Given the description of an element on the screen output the (x, y) to click on. 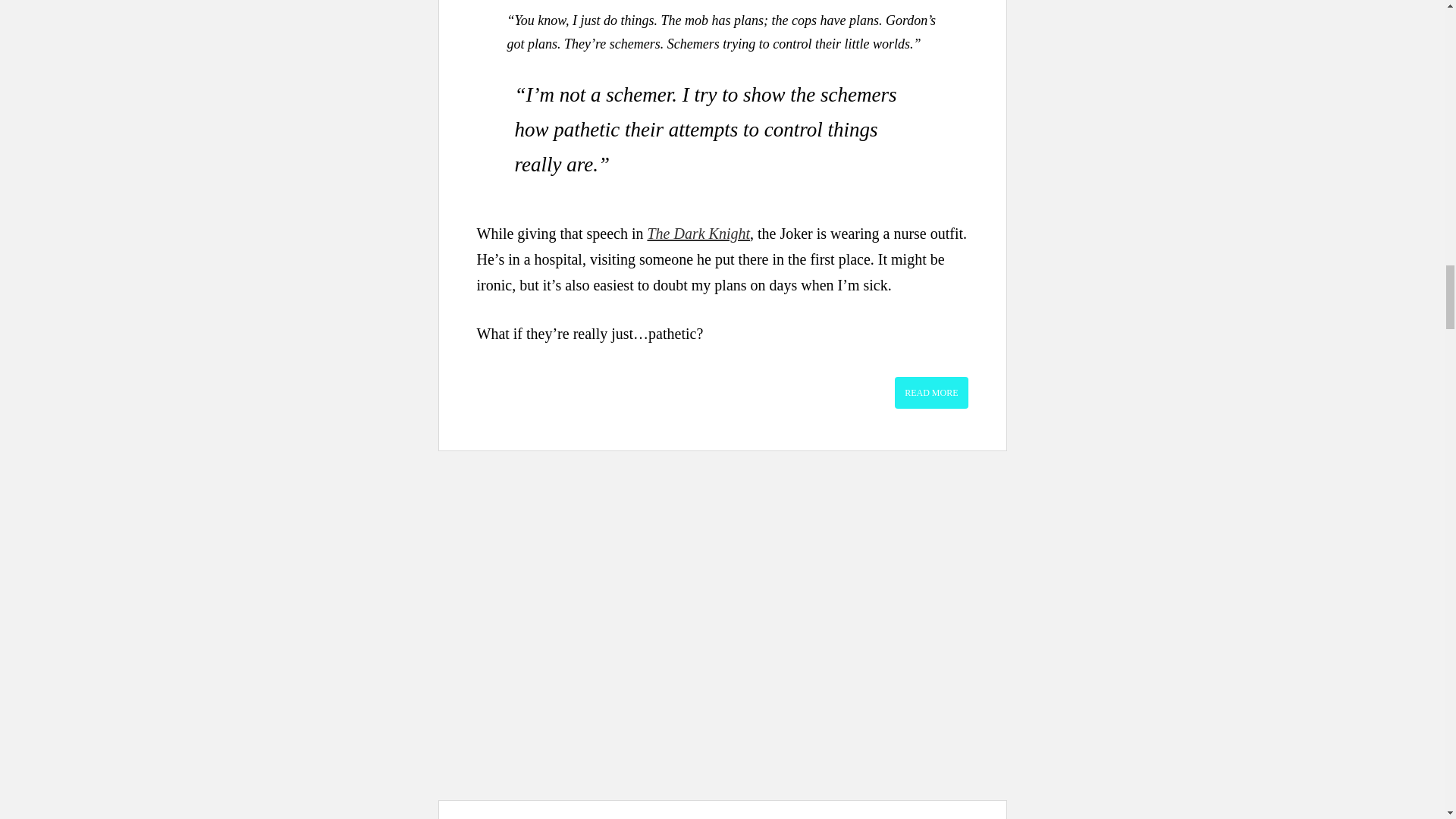
The Dark Knight (697, 233)
READ MORE (931, 392)
